Given the description of an element on the screen output the (x, y) to click on. 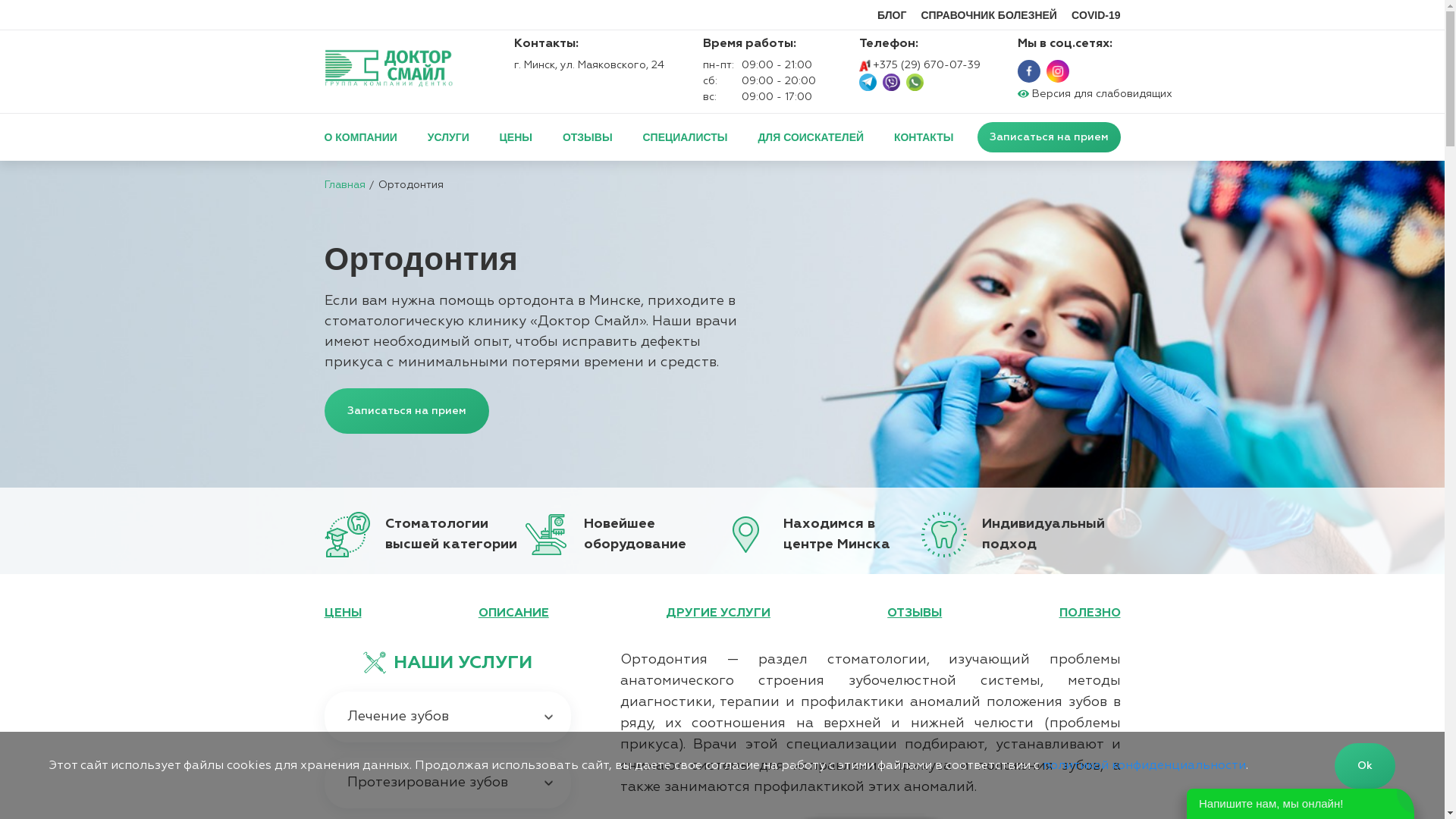
COVID-19 Element type: text (1095, 15)
Ok Element type: text (1364, 765)
+375 (29) 670-07-39 Element type: text (919, 64)
